Given the description of an element on the screen output the (x, y) to click on. 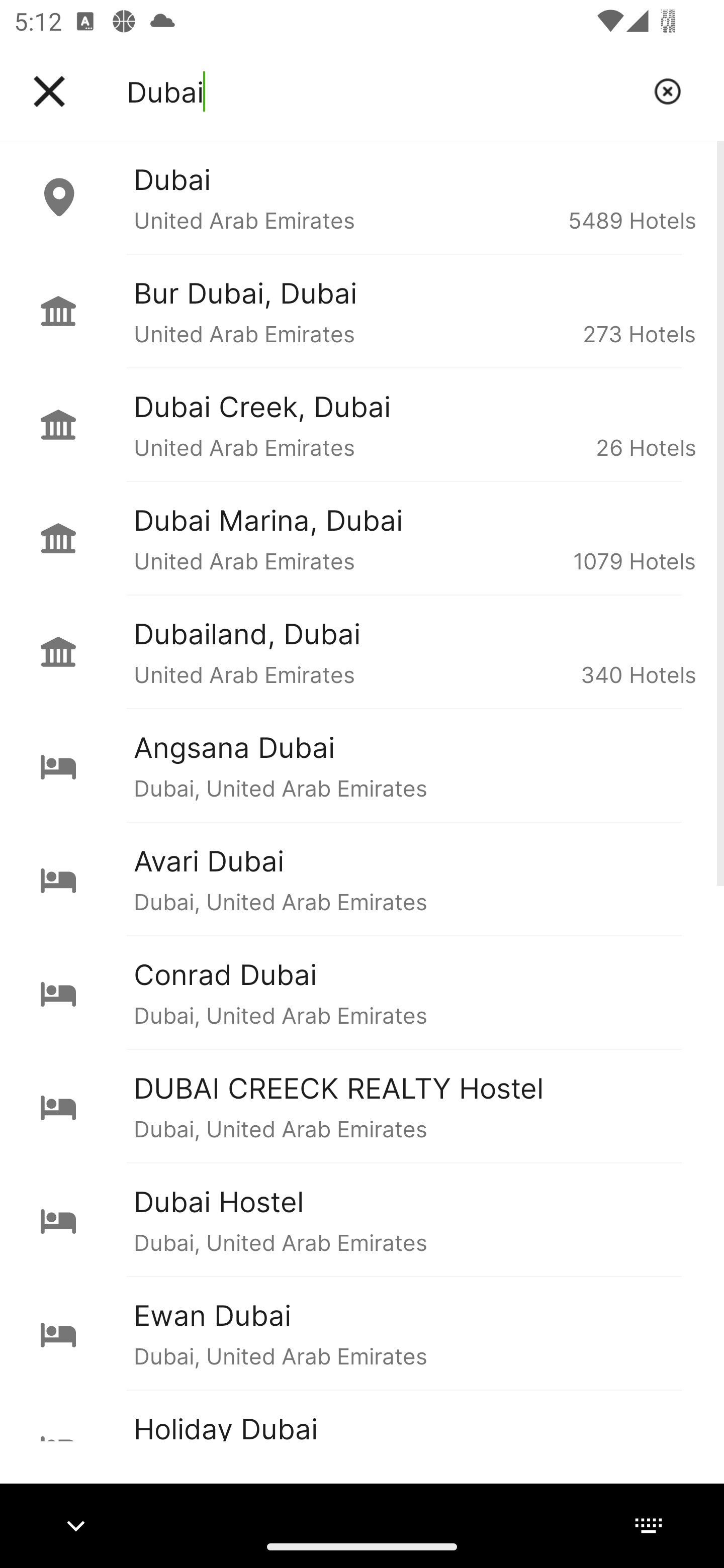
Dubai (382, 91)
Dubai United Arab Emirates 5489 Hotels (362, 197)
Bur Dubai, Dubai United Arab Emirates 273 Hotels (362, 310)
Dubai Creek, Dubai United Arab Emirates 26 Hotels (362, 424)
Dubailand, Dubai United Arab Emirates 340 Hotels (362, 651)
Angsana Dubai  Dubai, United Arab Emirates (362, 764)
Avari Dubai Dubai, United Arab Emirates (362, 878)
Conrad Dubai Dubai, United Arab Emirates (362, 992)
Dubai Hostel Dubai, United Arab Emirates (362, 1219)
Ewan Dubai Dubai, United Arab Emirates (362, 1332)
